Given the description of an element on the screen output the (x, y) to click on. 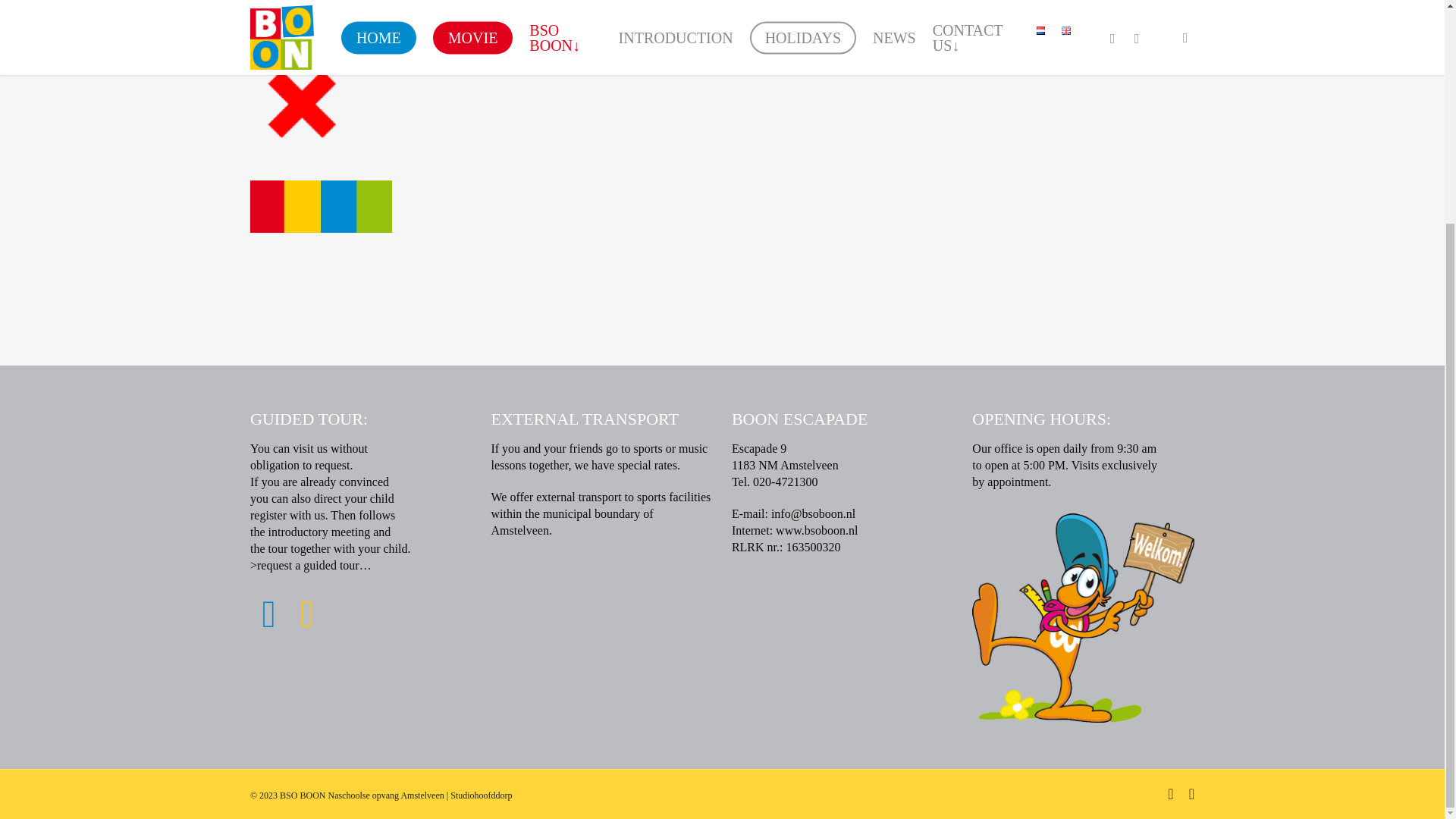
instagram (1191, 793)
Professioneel Webdesign Studiohoofddorp (480, 795)
Studiohoofddorp (480, 795)
facebook (1170, 793)
